Given the description of an element on the screen output the (x, y) to click on. 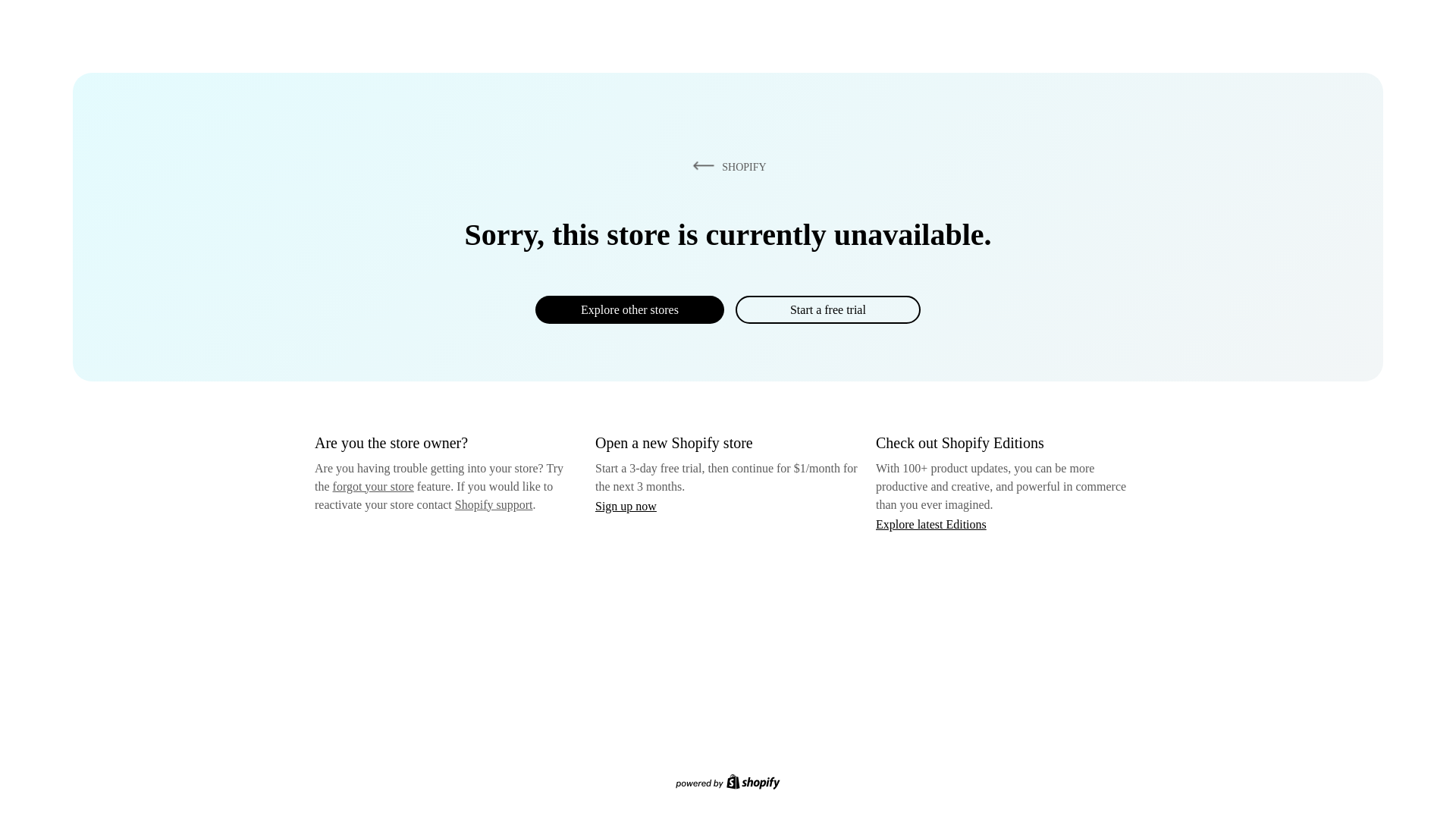
Explore latest Editions (931, 523)
Start a free trial (827, 309)
forgot your store (373, 486)
Sign up now (625, 505)
SHOPIFY (726, 166)
Explore other stores (629, 309)
Shopify support (493, 504)
